Given the description of an element on the screen output the (x, y) to click on. 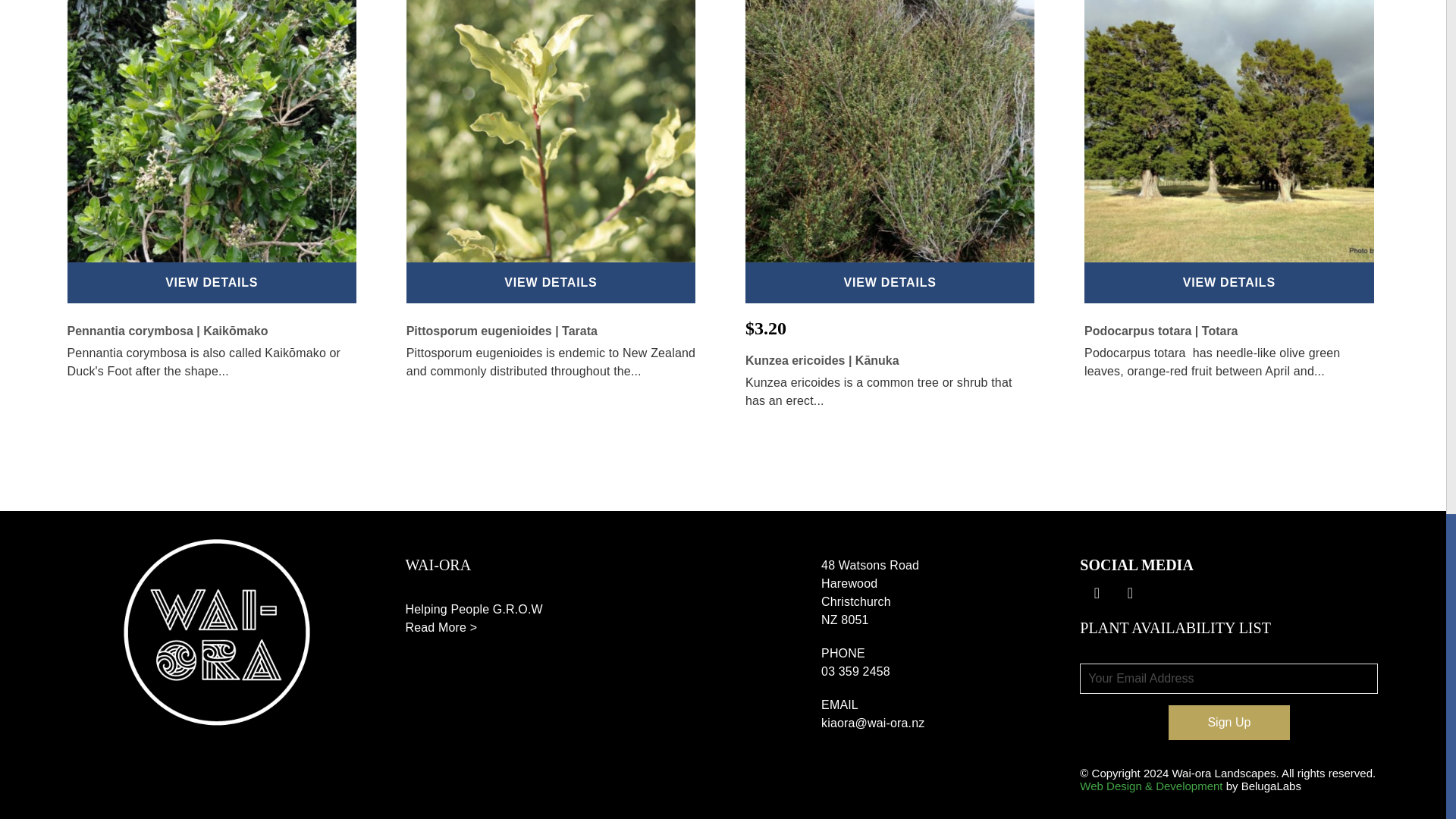
Web Design Company NY (1151, 785)
Official Facebook page (1096, 593)
Sign Up (1229, 722)
Official Linkedin profile (1129, 593)
